Given the description of an element on the screen output the (x, y) to click on. 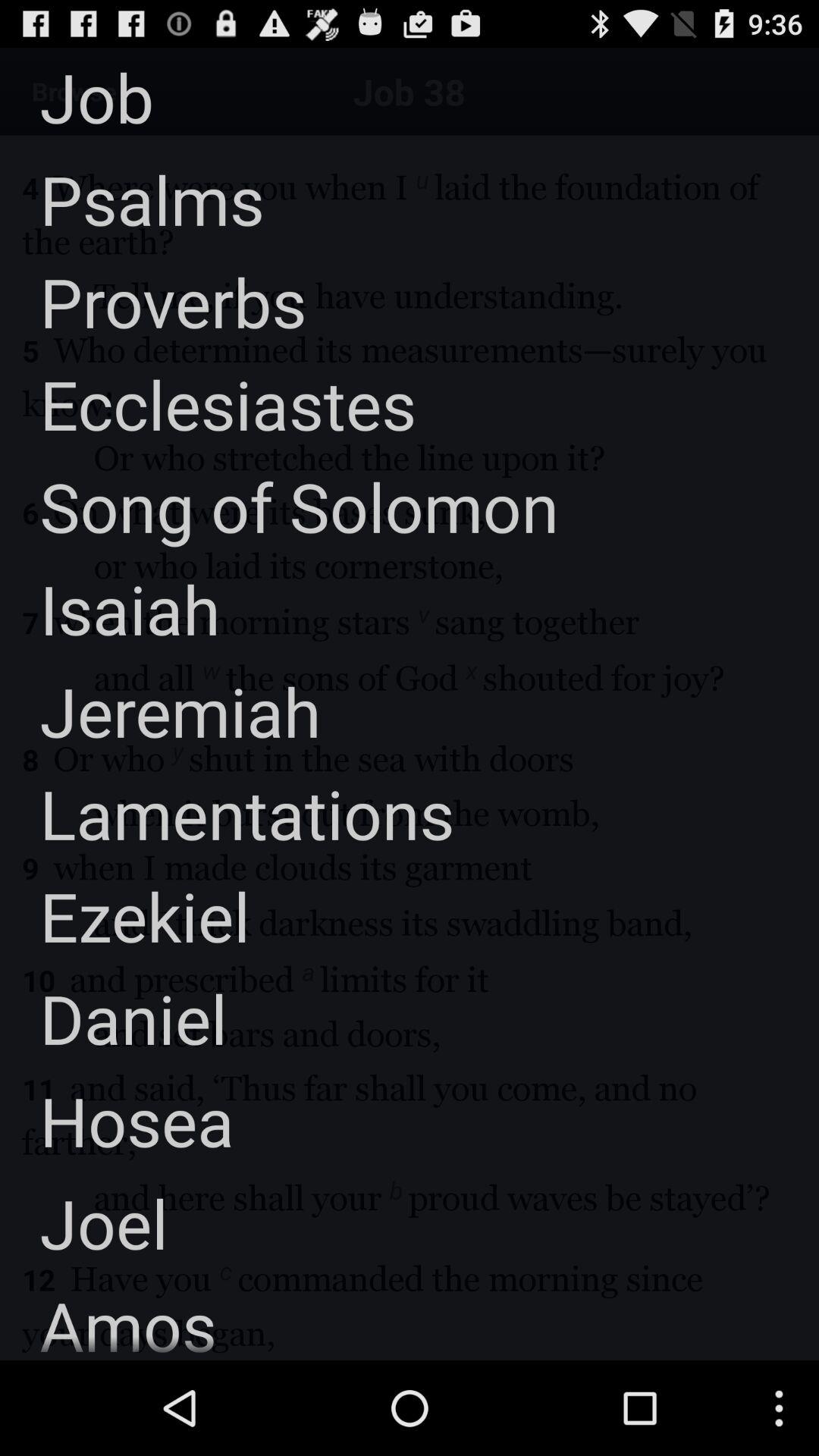
turn on the icon above daniel app (125, 915)
